Given the description of an element on the screen output the (x, y) to click on. 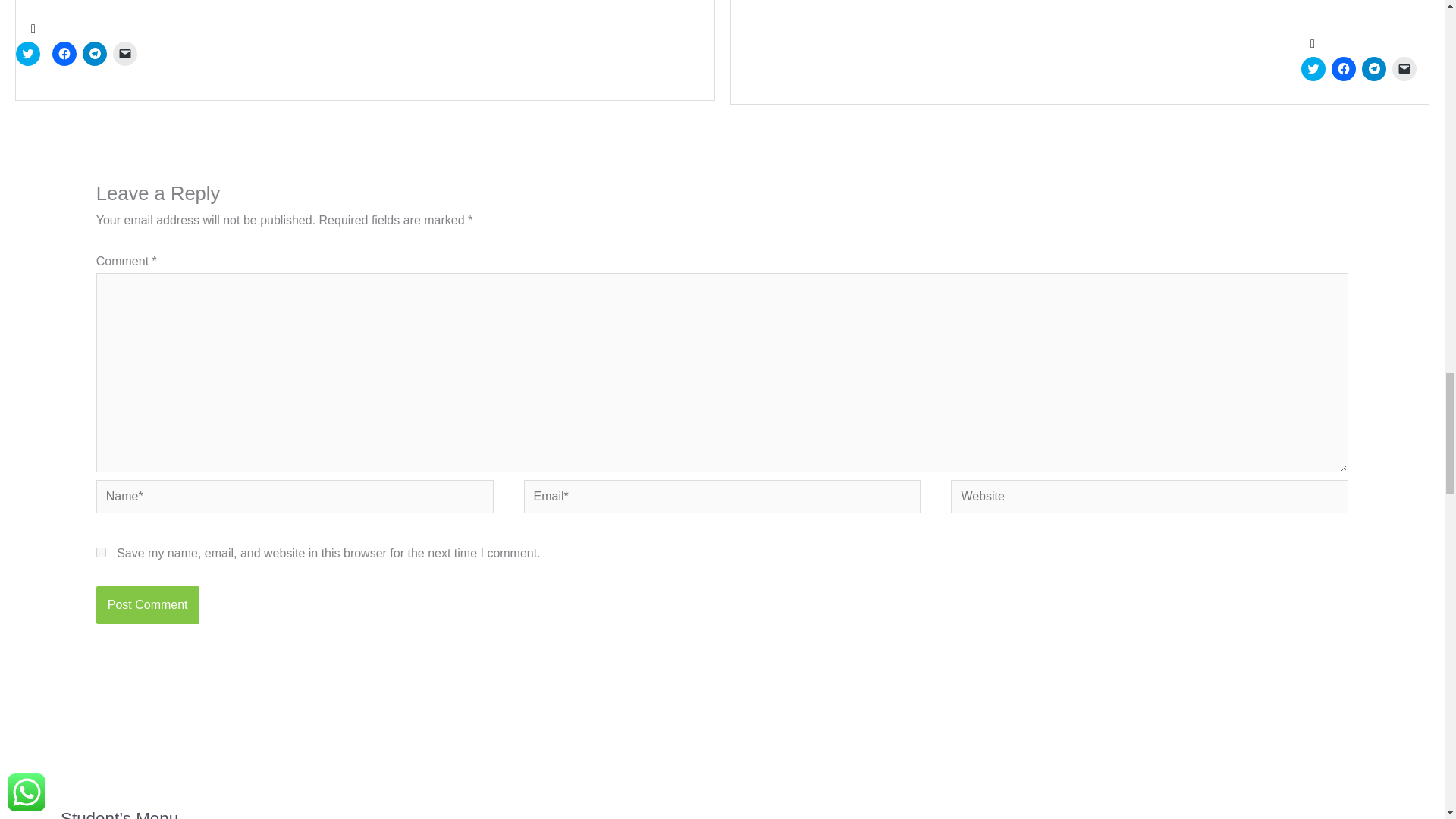
Post Comment (147, 605)
Click to share on Twitter (28, 53)
yes (101, 552)
Click to share on Telegram (94, 53)
Click to share on Facebook (64, 53)
Click to share on Twitter (1312, 68)
Click to email a link to a friend (124, 53)
